Given the description of an element on the screen output the (x, y) to click on. 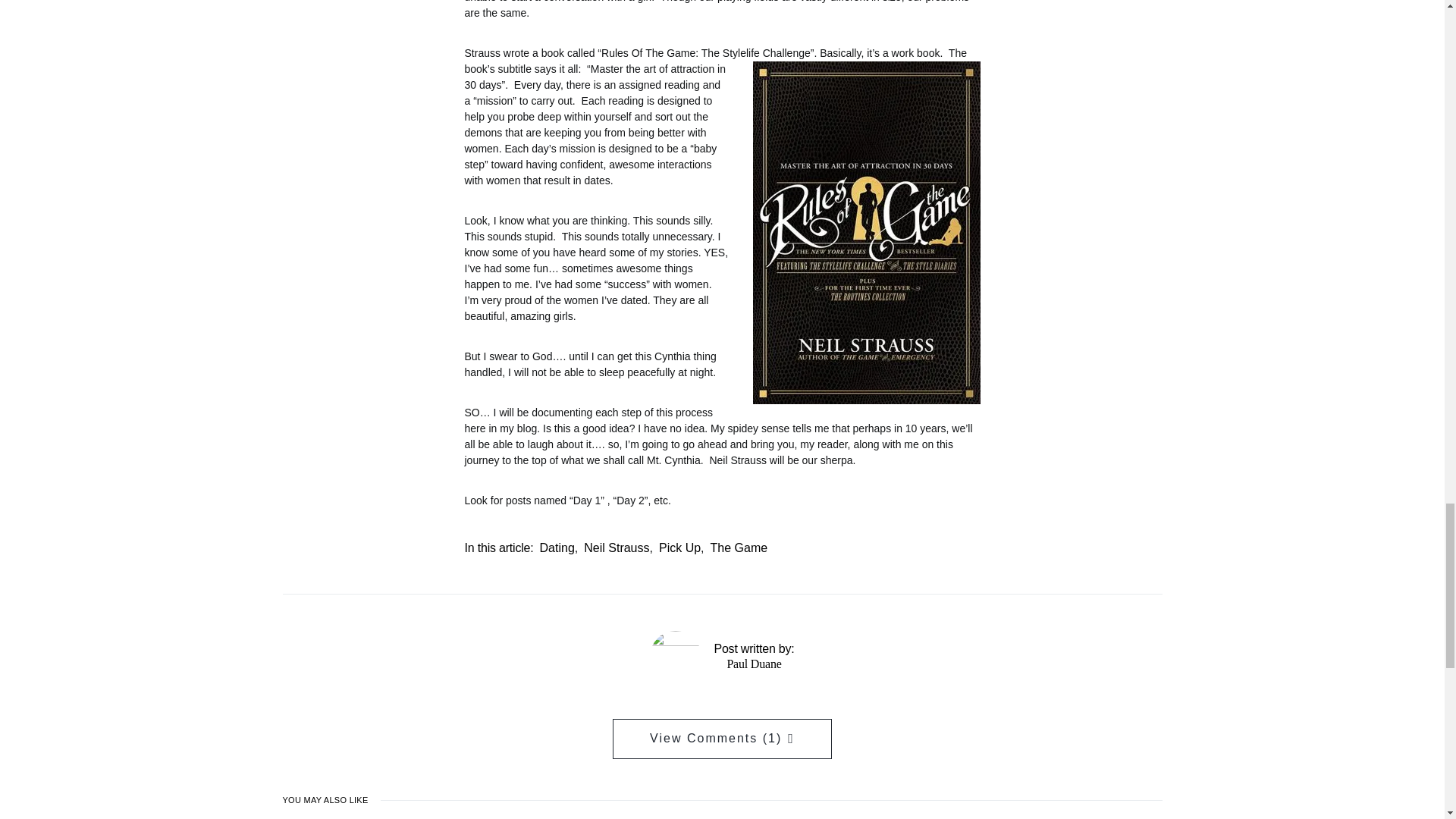
Dating (557, 547)
Pick Up (679, 547)
Paul Duane (753, 662)
The Game (739, 547)
Neil Strauss (616, 547)
